Given the description of an element on the screen output the (x, y) to click on. 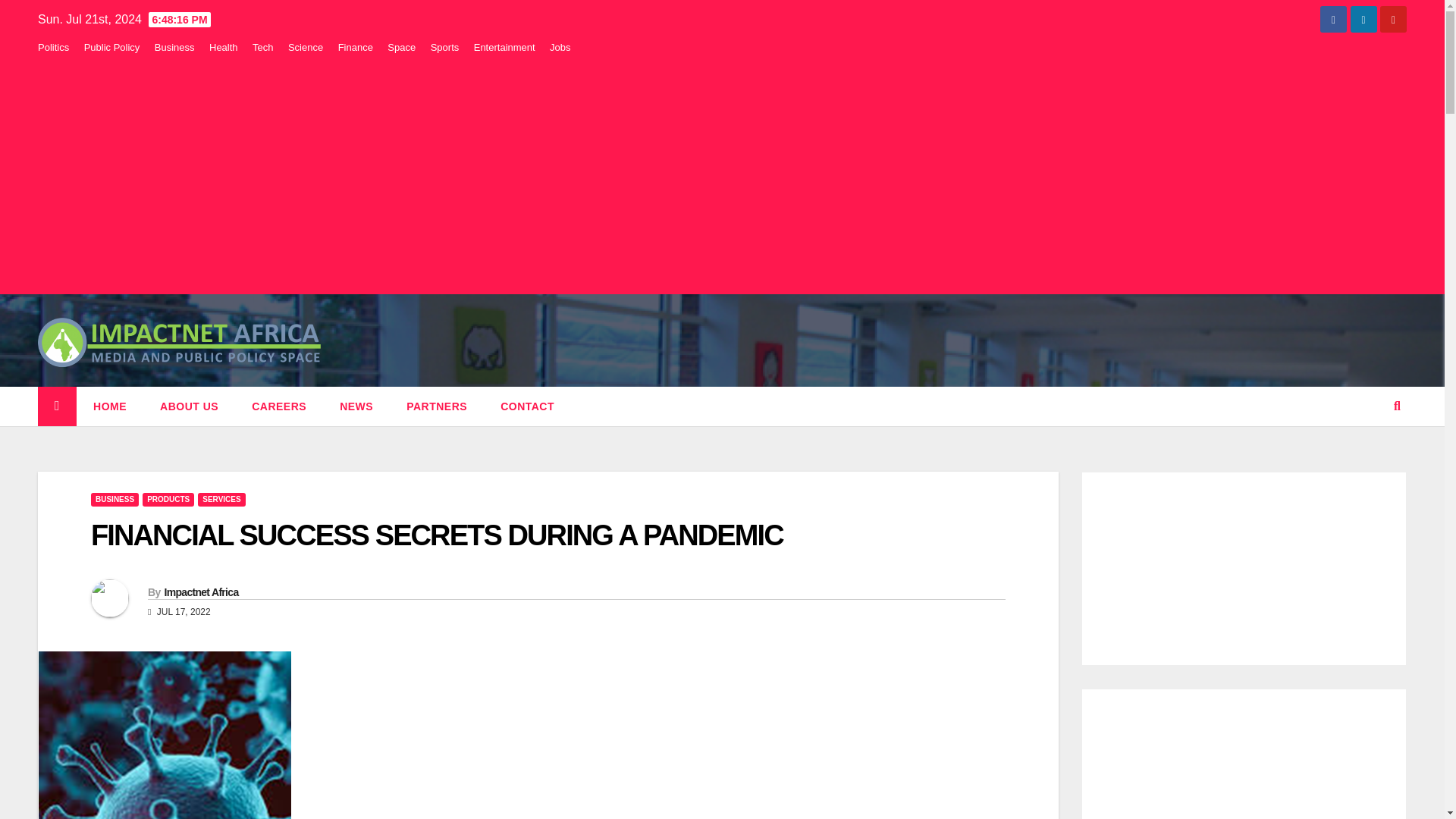
FINANCIAL SUCCESS SECRETS DURING A PANDEMIC (436, 535)
Business (174, 47)
Finance (354, 47)
Tech (262, 47)
Public Policy (111, 47)
ABOUT US (188, 405)
Health (223, 47)
PRODUCTS (167, 499)
Politics (52, 47)
PARTNERS (436, 405)
PARTNERS (436, 405)
CAREERS (278, 405)
CAREERS (278, 405)
Sports (445, 47)
Permalink to: FINANCIAL SUCCESS SECRETS DURING A PANDEMIC (436, 535)
